Given the description of an element on the screen output the (x, y) to click on. 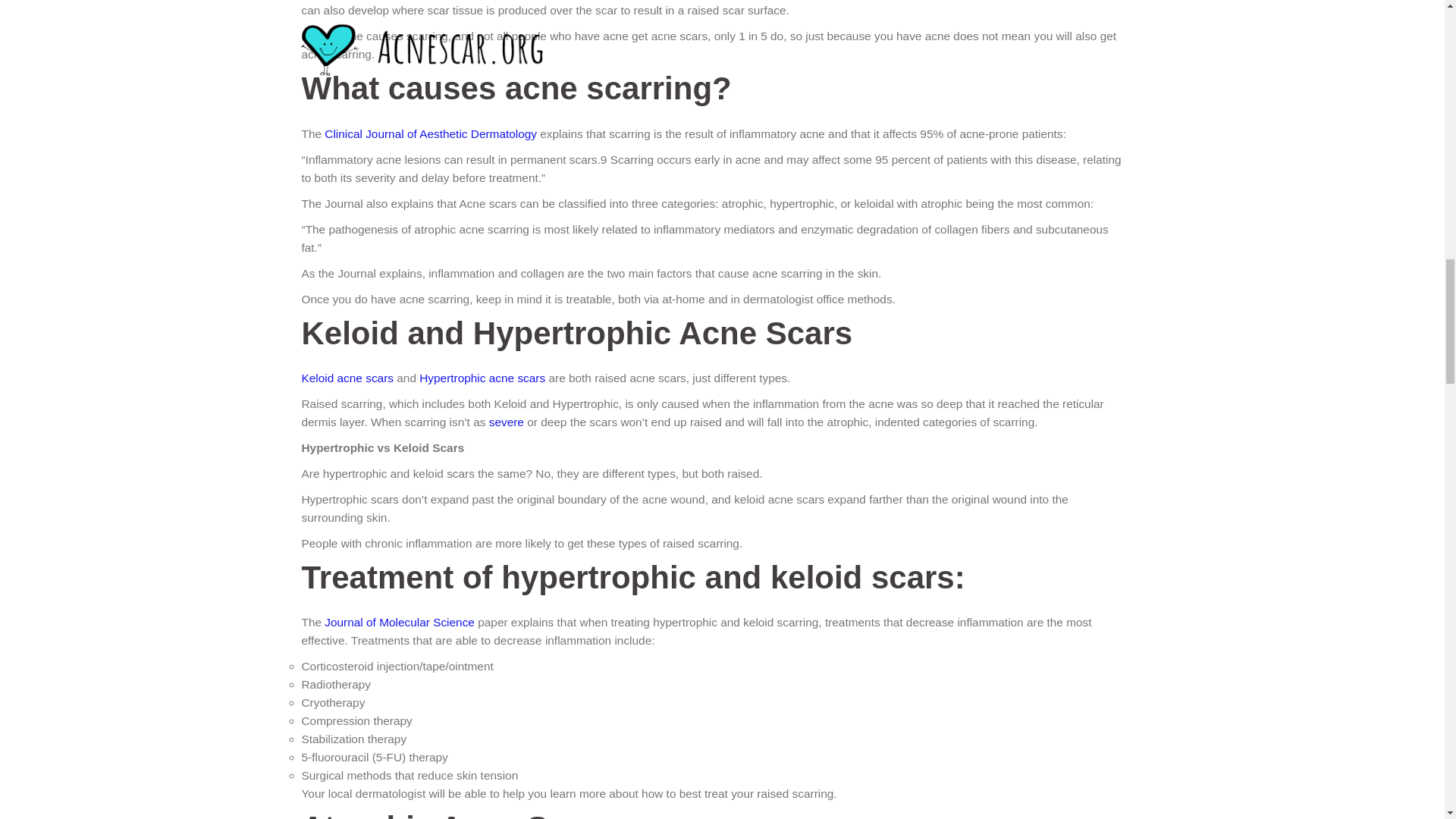
Journal of Molecular Science (399, 621)
severe (506, 421)
Keloid acne scars (347, 377)
Clinical Journal of Aesthetic Dermatology (430, 133)
Hypertrophic acne scars (481, 377)
